Given the description of an element on the screen output the (x, y) to click on. 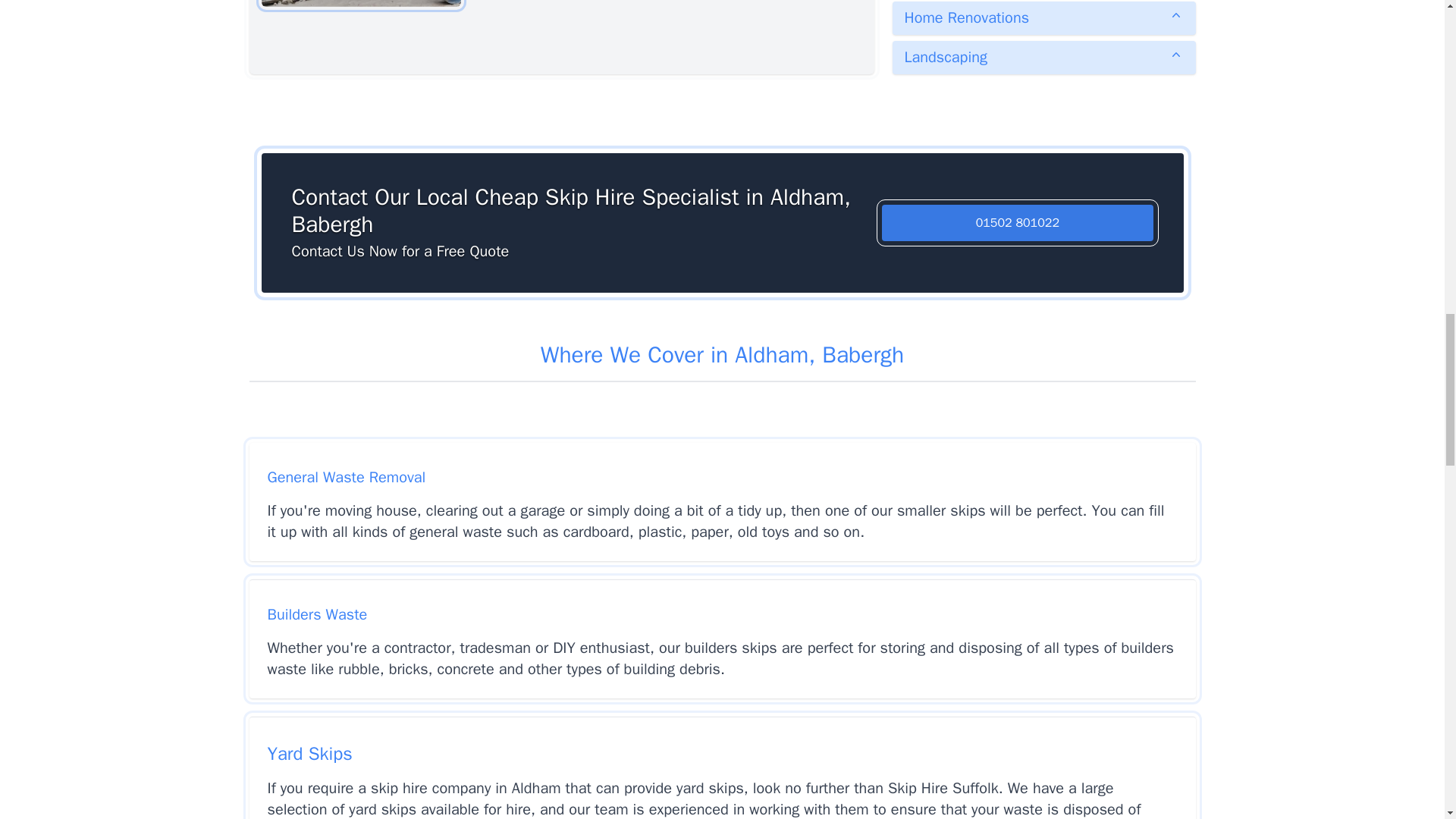
01502 801022 (1017, 222)
Home Renovations (1043, 18)
Landscaping (1043, 57)
